Given the description of an element on the screen output the (x, y) to click on. 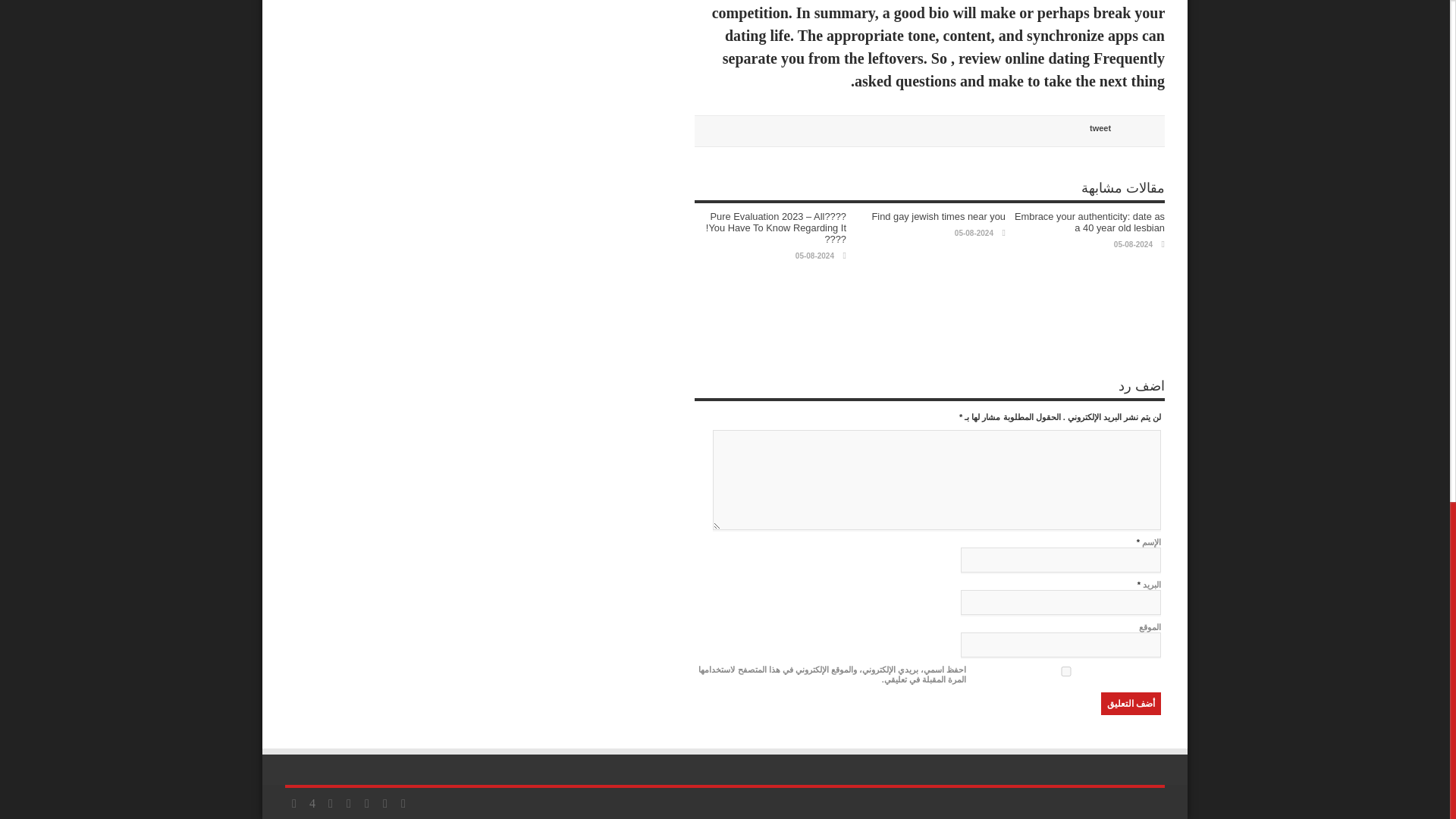
Find gay jewish times near you (938, 215)
Embrace your authenticity: date as a 40 year old lesbian (1089, 221)
tweet (1099, 127)
yes (1065, 671)
